Given the description of an element on the screen output the (x, y) to click on. 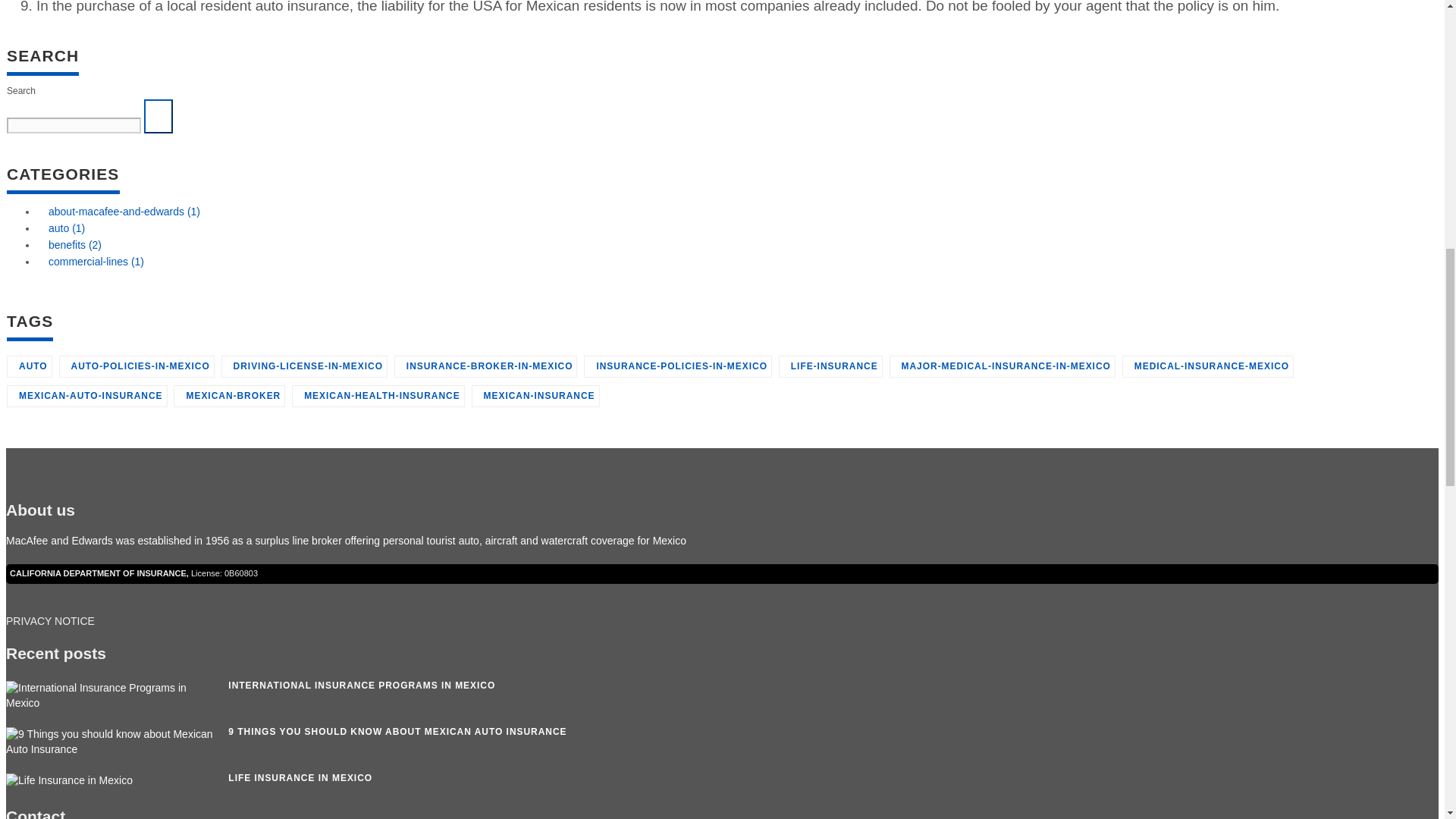
CALIFORNIA DEPARTMENT OF INSURANCE, License: 0B60803 (133, 573)
MEXICAN-INSURANCE (535, 395)
MAJOR-MEDICAL-INSURANCE-IN-MEXICO (1001, 366)
MEXICAN-BROKER (229, 395)
LIFE INSURANCE IN MEXICO (300, 777)
LIFE-INSURANCE (830, 366)
INSURANCE-BROKER-IN-MEXICO (486, 366)
INTERNATIONAL INSURANCE PROGRAMS IN MEXICO (361, 685)
MEDICAL-INSURANCE-MEXICO (1208, 366)
DRIVING-LICENSE-IN-MEXICO (304, 366)
PRIVACY NOTICE (49, 621)
MEXICAN-HEALTH-INSURANCE (378, 395)
9 THINGS YOU SHOULD KNOW ABOUT MEXICAN AUTO INSURANCE (397, 731)
Search (158, 116)
AUTO-POLICIES-IN-MEXICO (136, 366)
